Given the description of an element on the screen output the (x, y) to click on. 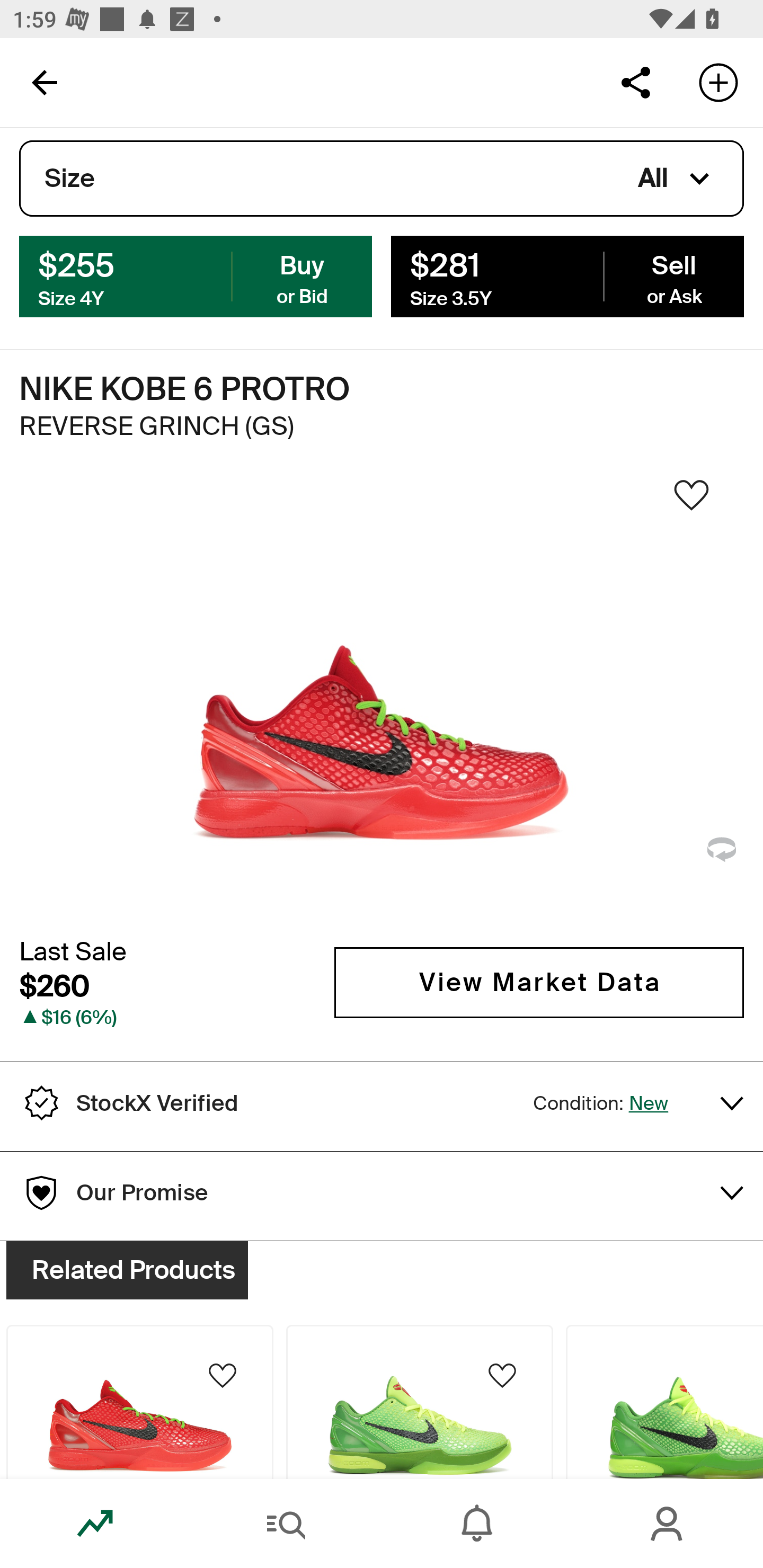
Share (635, 81)
Add (718, 81)
Size All (381, 178)
$237 Buy Size 5 or Bid (195, 275)
$480 Sell Size 12 or Ask (566, 275)
Sneaker Image (381, 699)
View Market Data (538, 982)
Product Image (139, 1401)
Product Image (419, 1401)
Product Image (664, 1401)
Search (285, 1523)
Inbox (476, 1523)
Account (667, 1523)
